Given the description of an element on the screen output the (x, y) to click on. 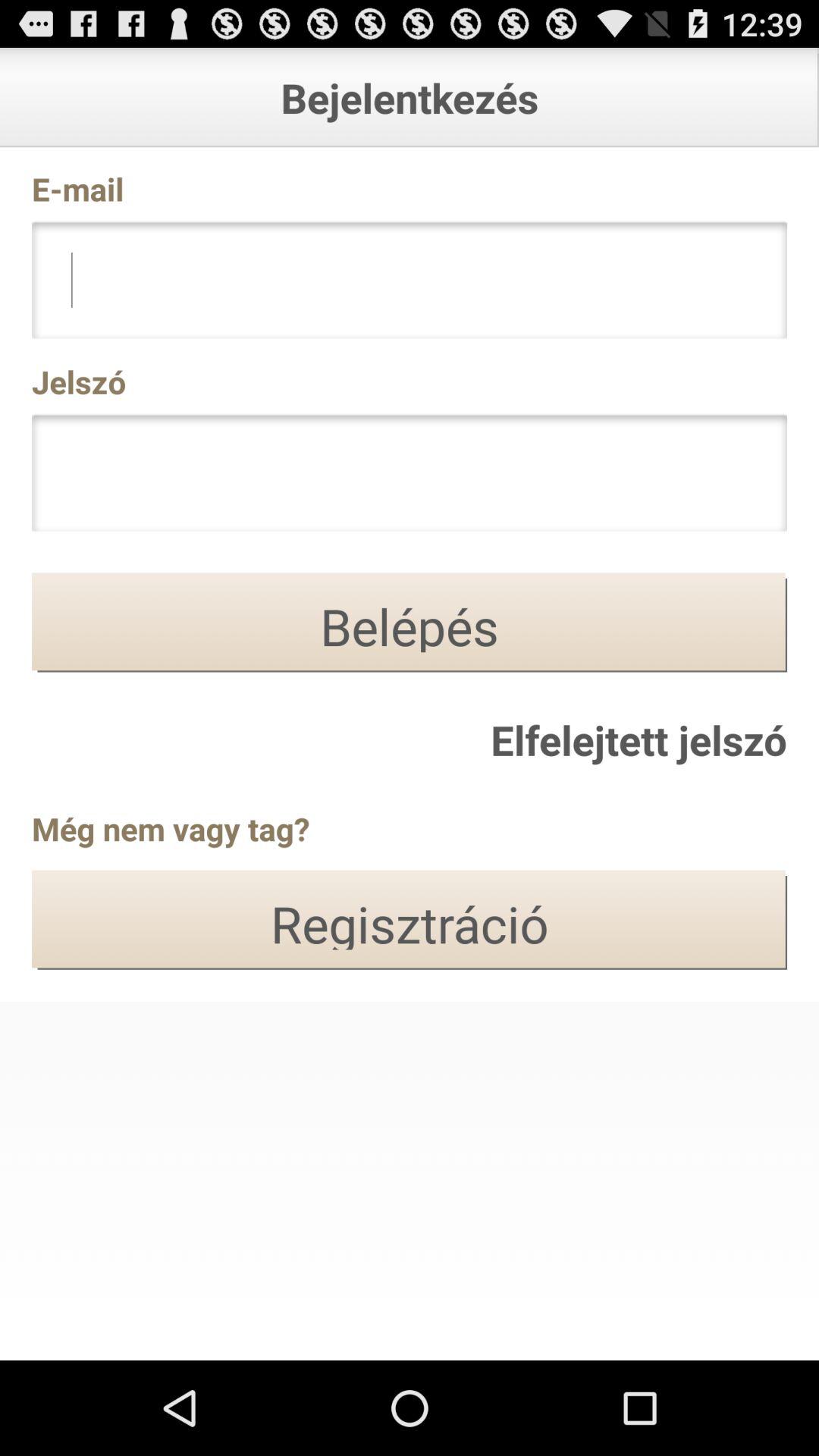
tap app on the right (638, 739)
